Given the description of an element on the screen output the (x, y) to click on. 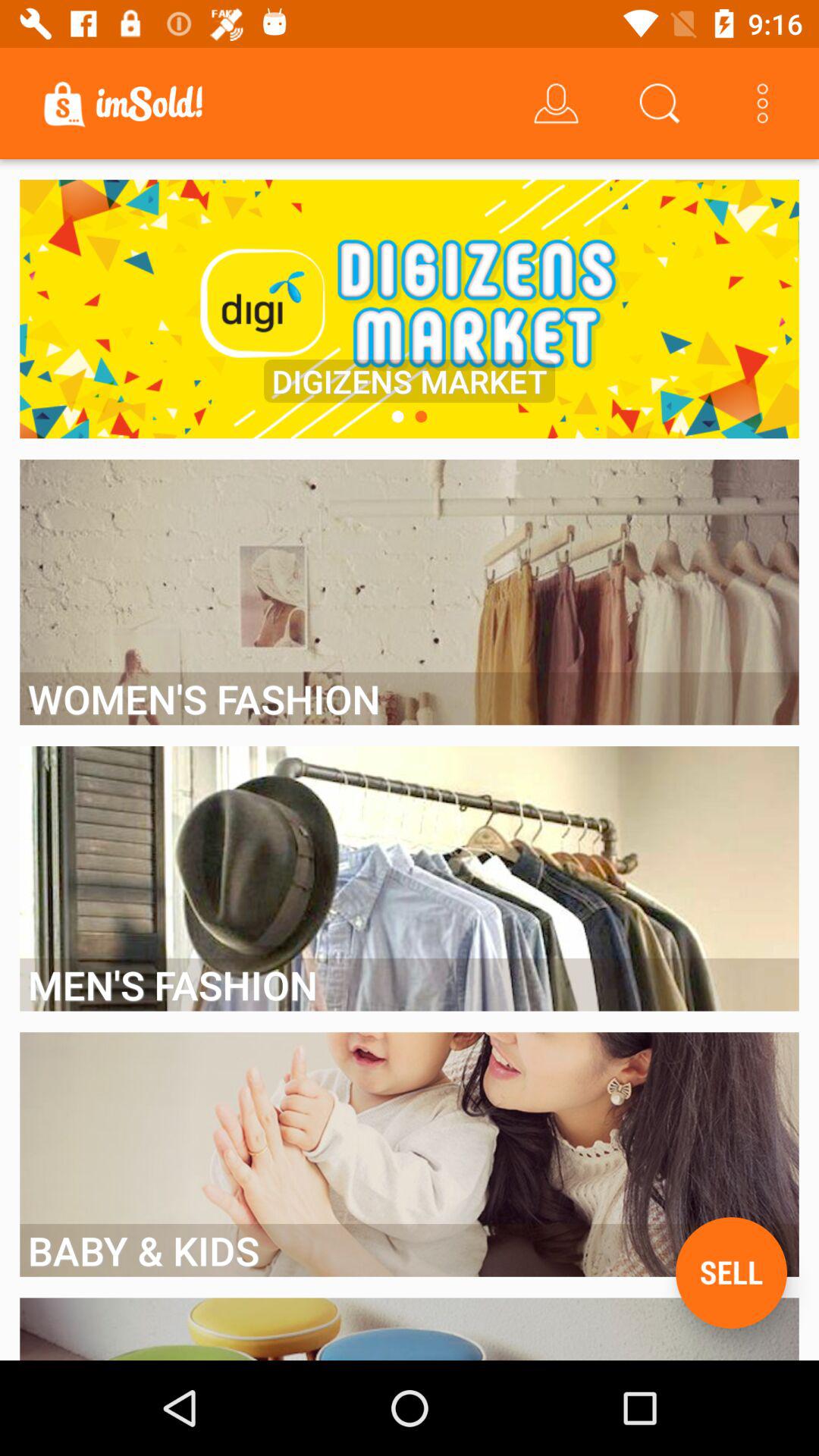
select the item at the bottom right corner (731, 1272)
